Given the description of an element on the screen output the (x, y) to click on. 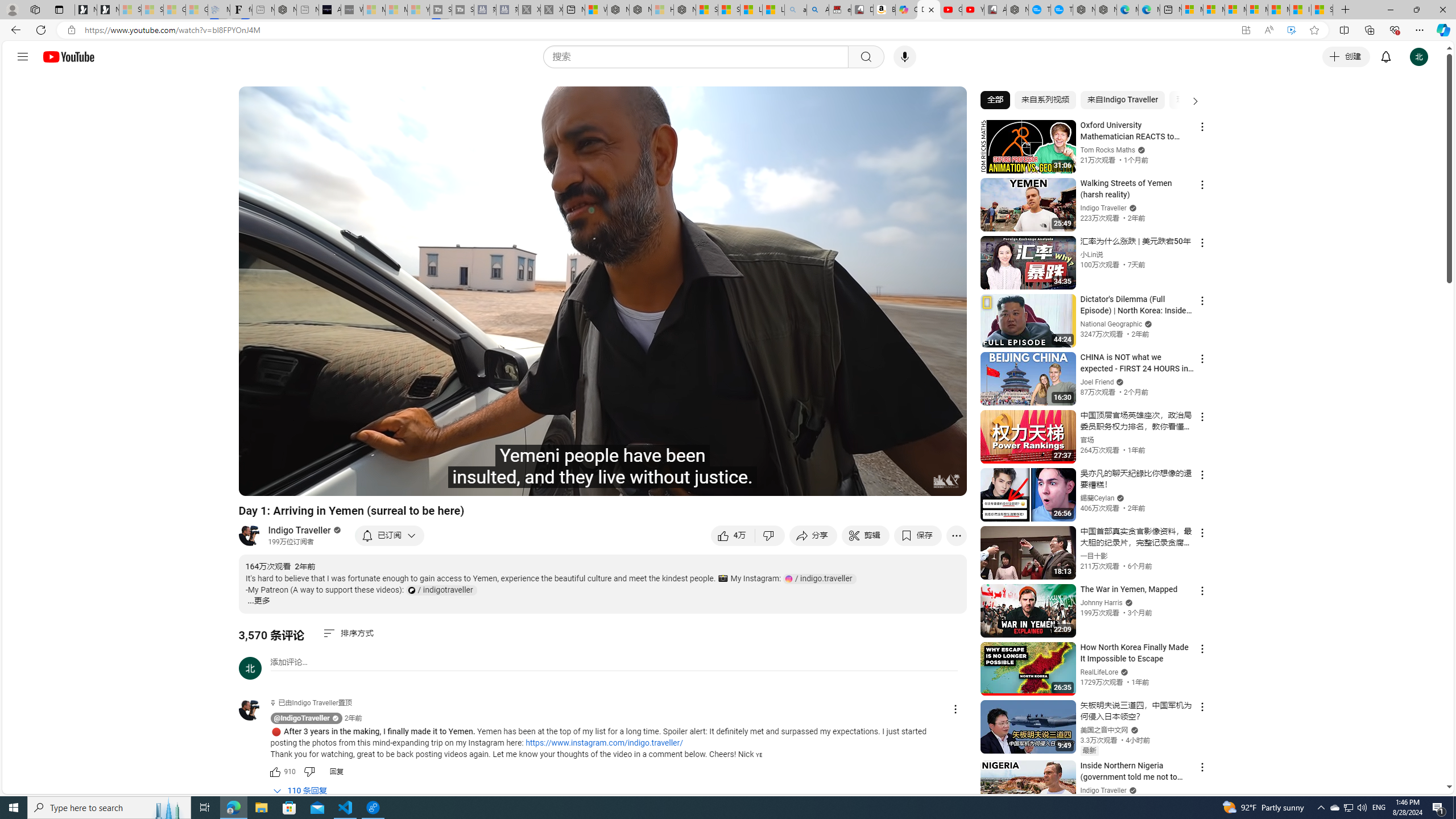
Day 1: Arriving in Yemen (surreal to be here) - YouTube (928, 9)
X - Sleeping (551, 9)
Instagram Channel Link: indigo.traveller (819, 578)
